Given the description of an element on the screen output the (x, y) to click on. 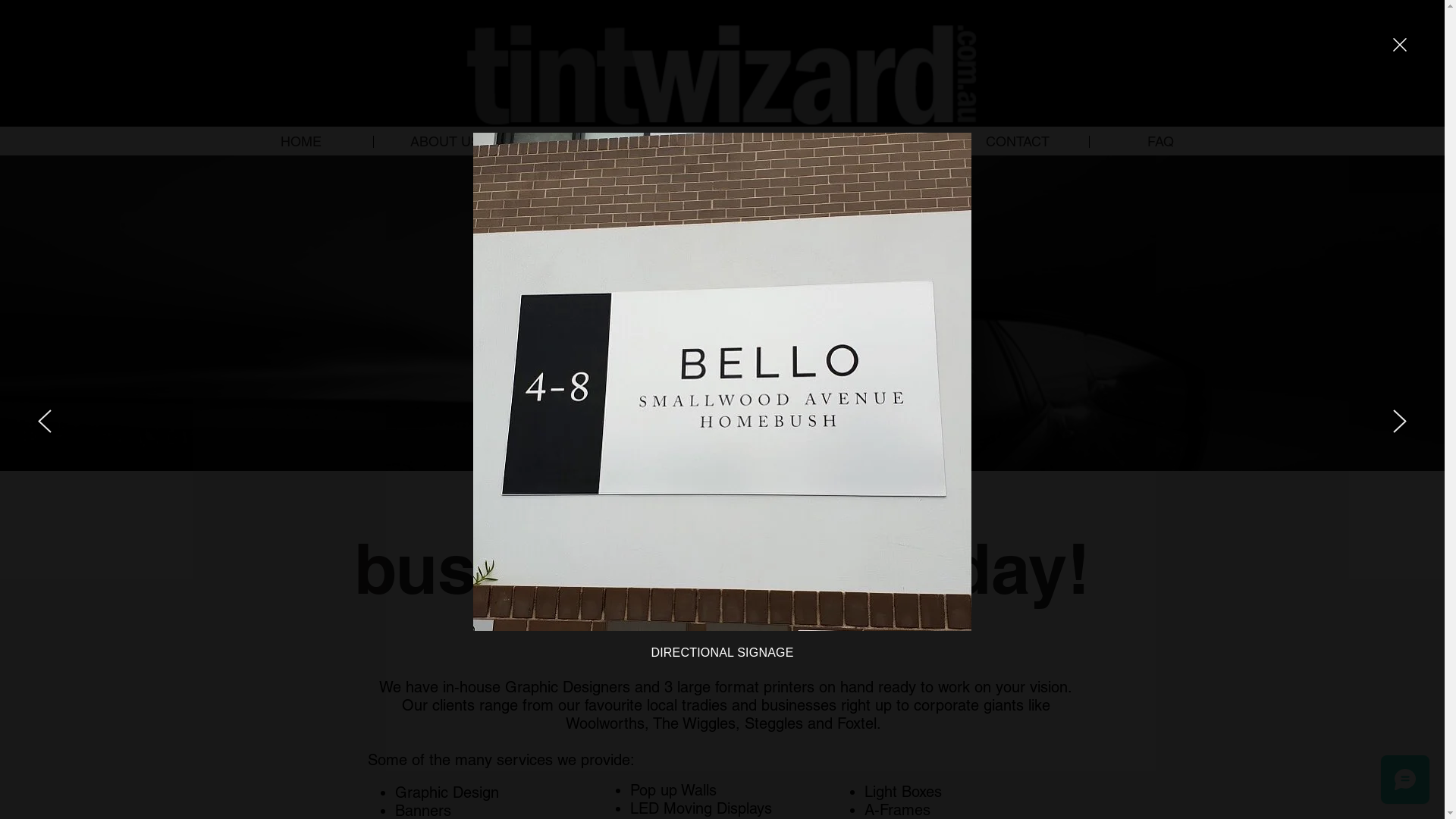
CONTACT Element type: text (1017, 140)
GRAPHIC DESIGN Element type: text (873, 140)
SIGNAGE Element type: text (731, 140)
FAQ Element type: text (1159, 140)
HOME Element type: text (300, 140)
WINDOW TINTING Element type: text (586, 140)
ABOUT US Element type: text (444, 140)
